Given the description of an element on the screen output the (x, y) to click on. 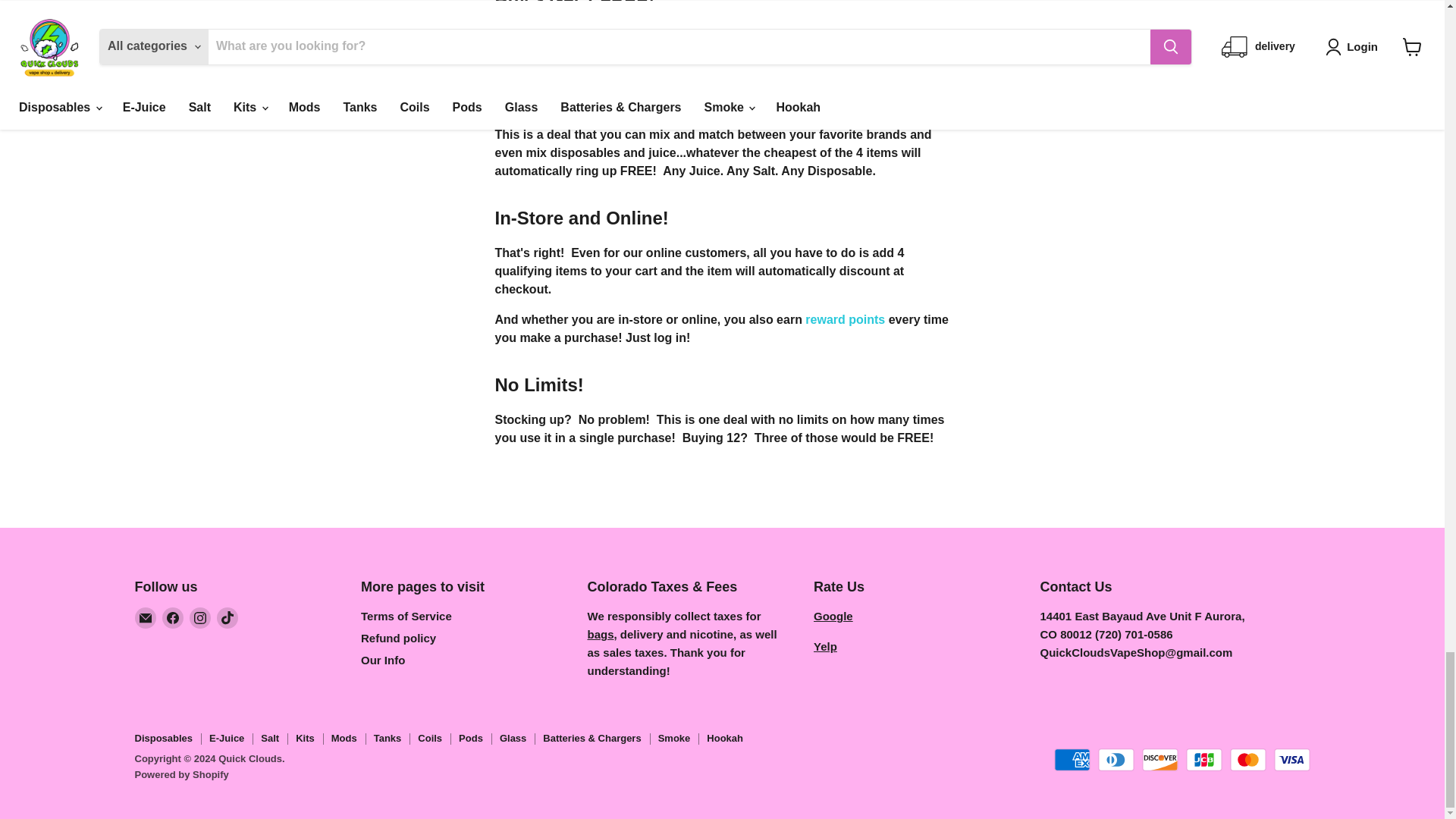
rewards home (845, 318)
Email (145, 617)
salts (645, 33)
disposable devices (759, 33)
ejuice (578, 33)
